Given the description of an element on the screen output the (x, y) to click on. 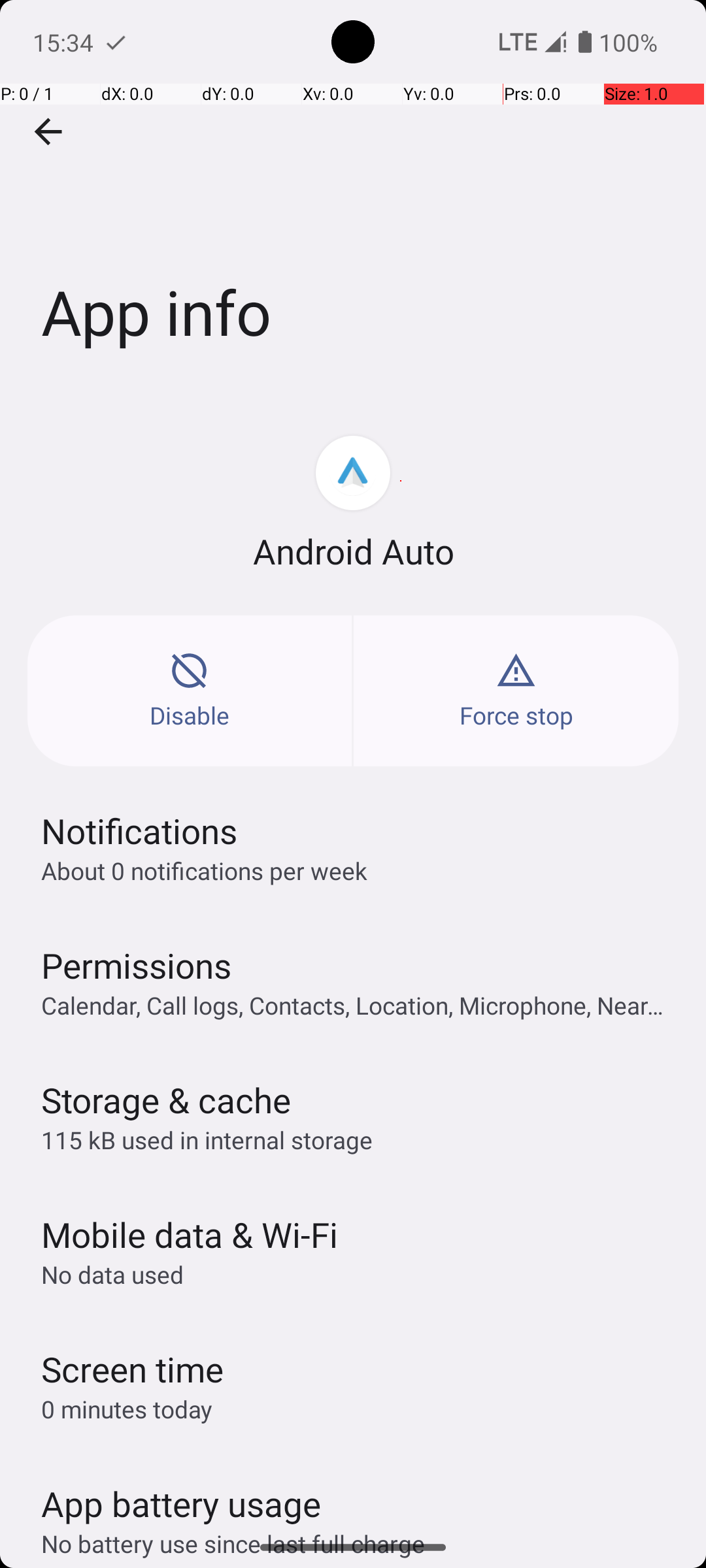
Calendar, Call logs, Contacts, Location, Microphone, Nearby devices, Notifications, Phone, and SMS Element type: android.widget.TextView (359, 1004)
115 kB used in internal storage Element type: android.widget.TextView (206, 1139)
0 minutes today Element type: android.widget.TextView (127, 1408)
